Given the description of an element on the screen output the (x, y) to click on. 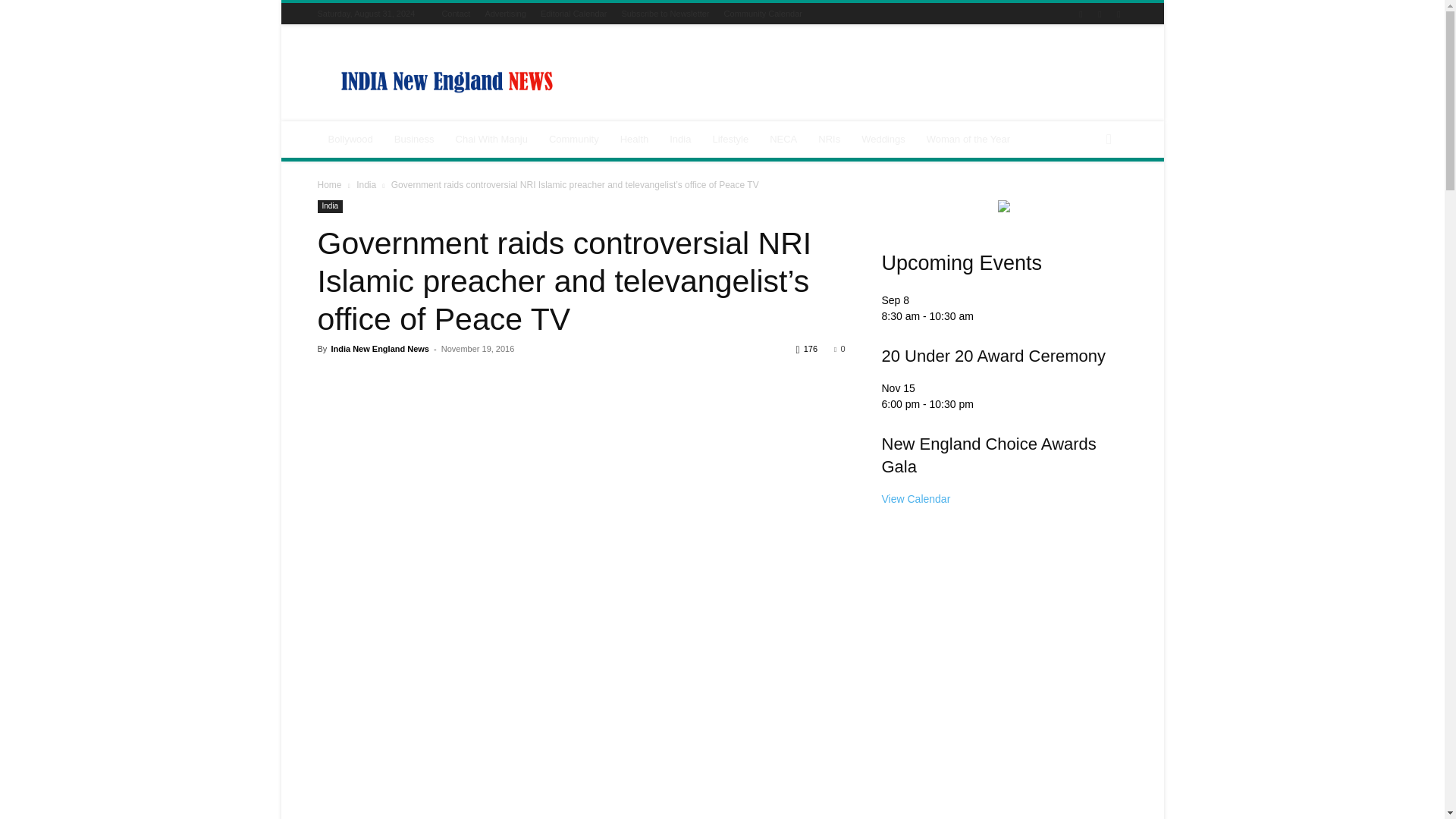
Editorial Calendar (573, 13)
Health (634, 139)
Chai With Manju (491, 139)
Contact (455, 13)
Lifestyle (729, 139)
Business (414, 139)
Community (574, 139)
NECA (783, 139)
View all posts in India (365, 184)
Woman of the Year (967, 139)
